Given the description of an element on the screen output the (x, y) to click on. 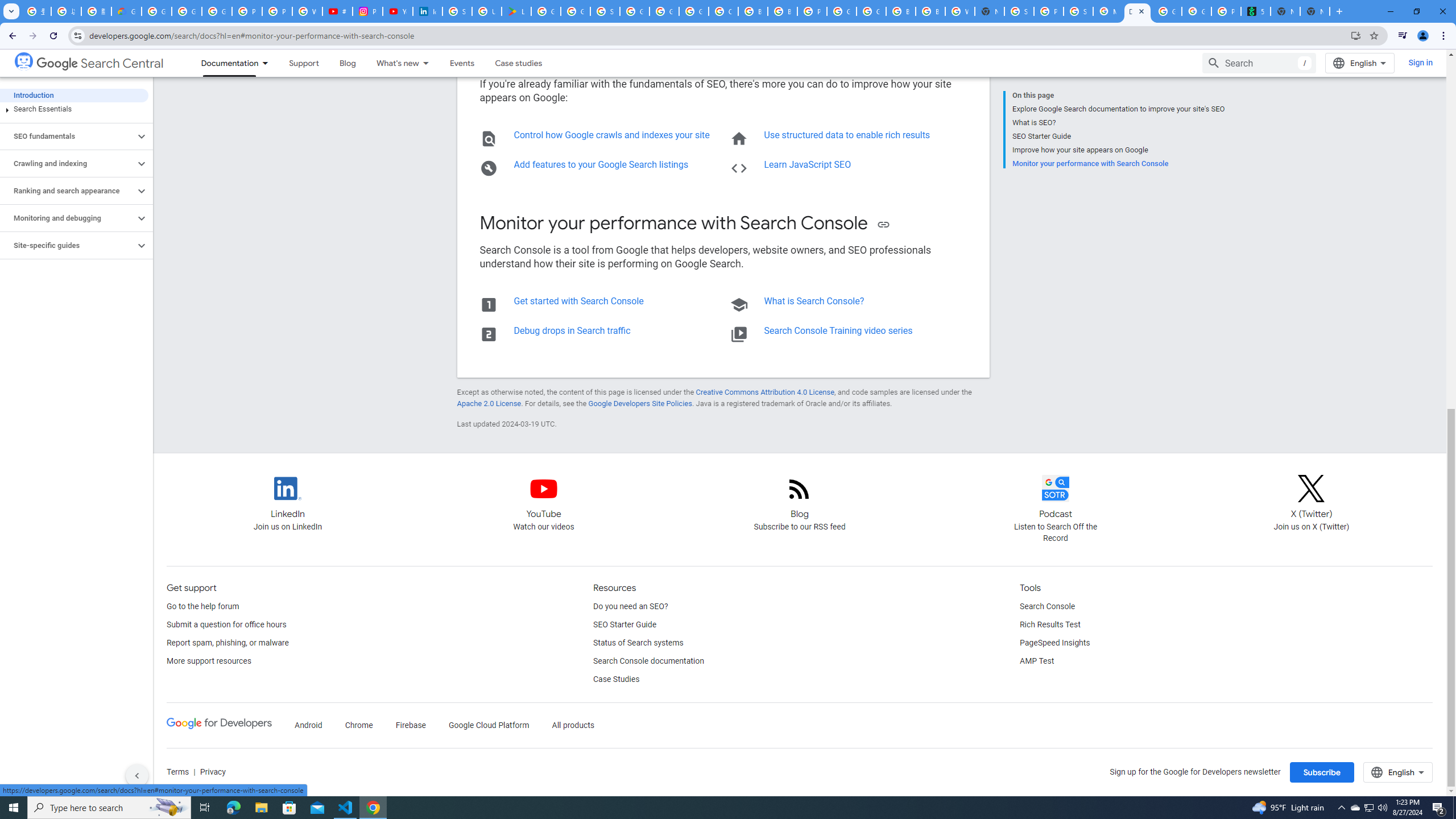
SEO fundamentals (67, 136)
Google Search Central (99, 63)
Crawling and indexing (67, 163)
Google Cloud Platform (871, 11)
Blog (799, 488)
Site-specific guides (67, 245)
Hide side navigation (136, 775)
Google Cloud Platform (841, 11)
Monitoring and debugging (67, 218)
